Given the description of an element on the screen output the (x, y) to click on. 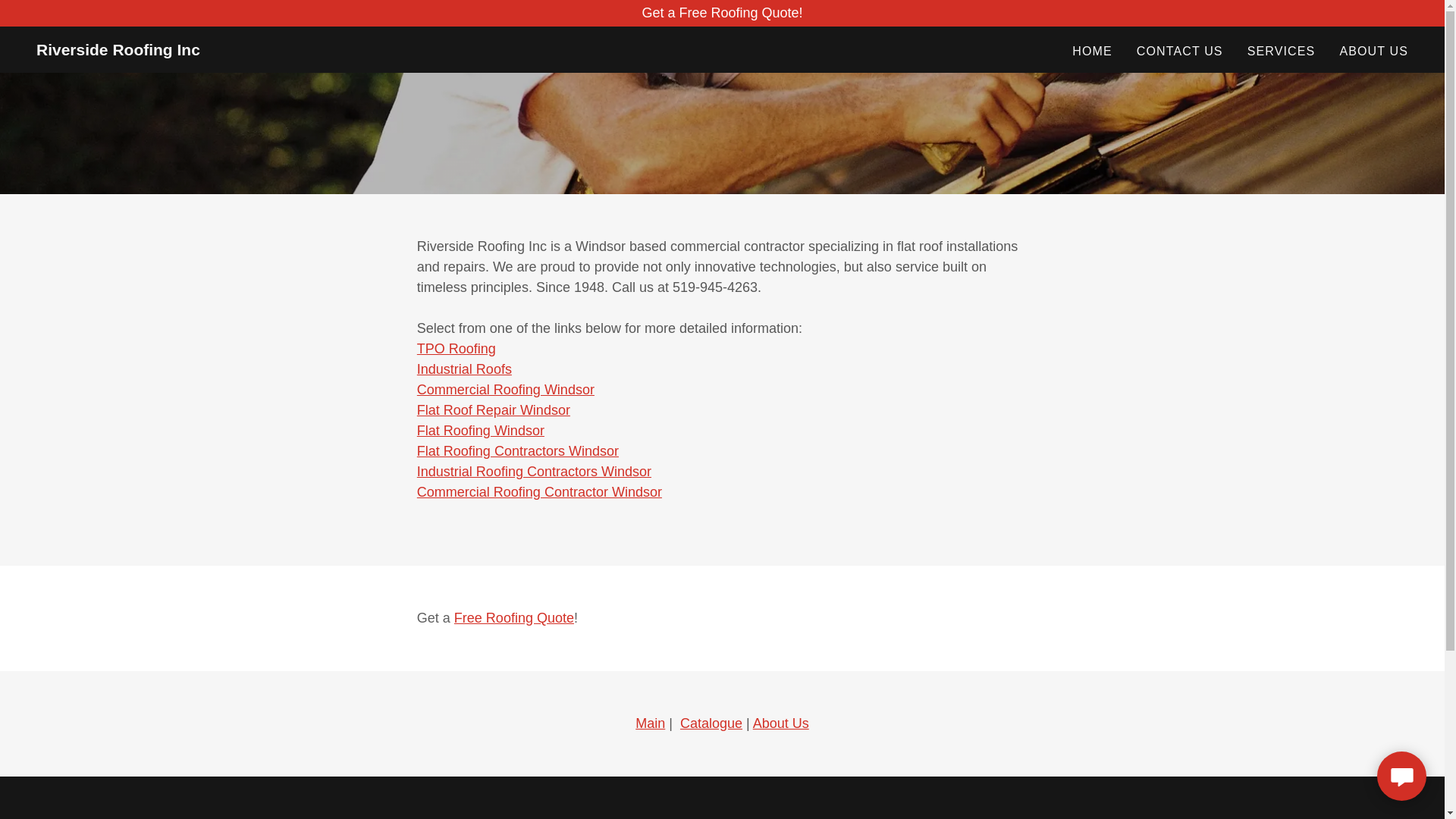
Riverside Roofing Inc (118, 50)
Commercial Roofing Contractor Windsor (539, 491)
Free Roofing Quote (513, 617)
Riverside Roofing Inc (118, 50)
Flat Roofing Contractors Windsor (517, 450)
Industrial Roofs (464, 368)
Catalogue (710, 723)
Flat Roofing Windsor (480, 430)
Flat Roof Repair Windsor (493, 409)
ABOUT US (1373, 51)
